Given the description of an element on the screen output the (x, y) to click on. 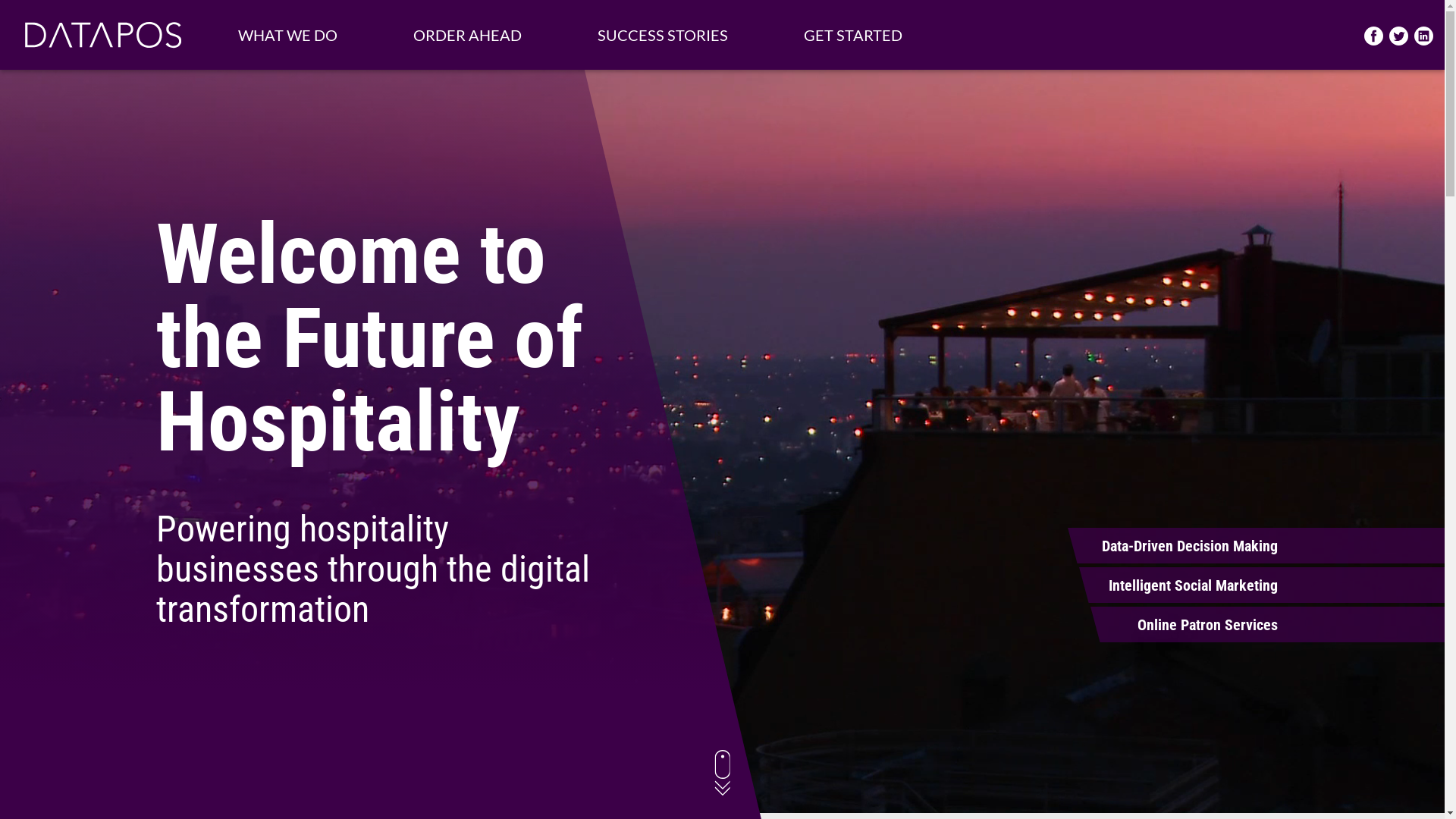
ORDER AHEAD Element type: text (467, 34)
GET STARTED Element type: text (852, 34)
Online Patron Services Element type: text (1178, 624)
Intelligent Social Marketing Element type: text (1178, 584)
Data-Driven Decision Making Element type: text (1178, 545)
WHAT WE DO Element type: text (287, 34)
SUCCESS STORIES Element type: text (662, 34)
